Given the description of an element on the screen output the (x, y) to click on. 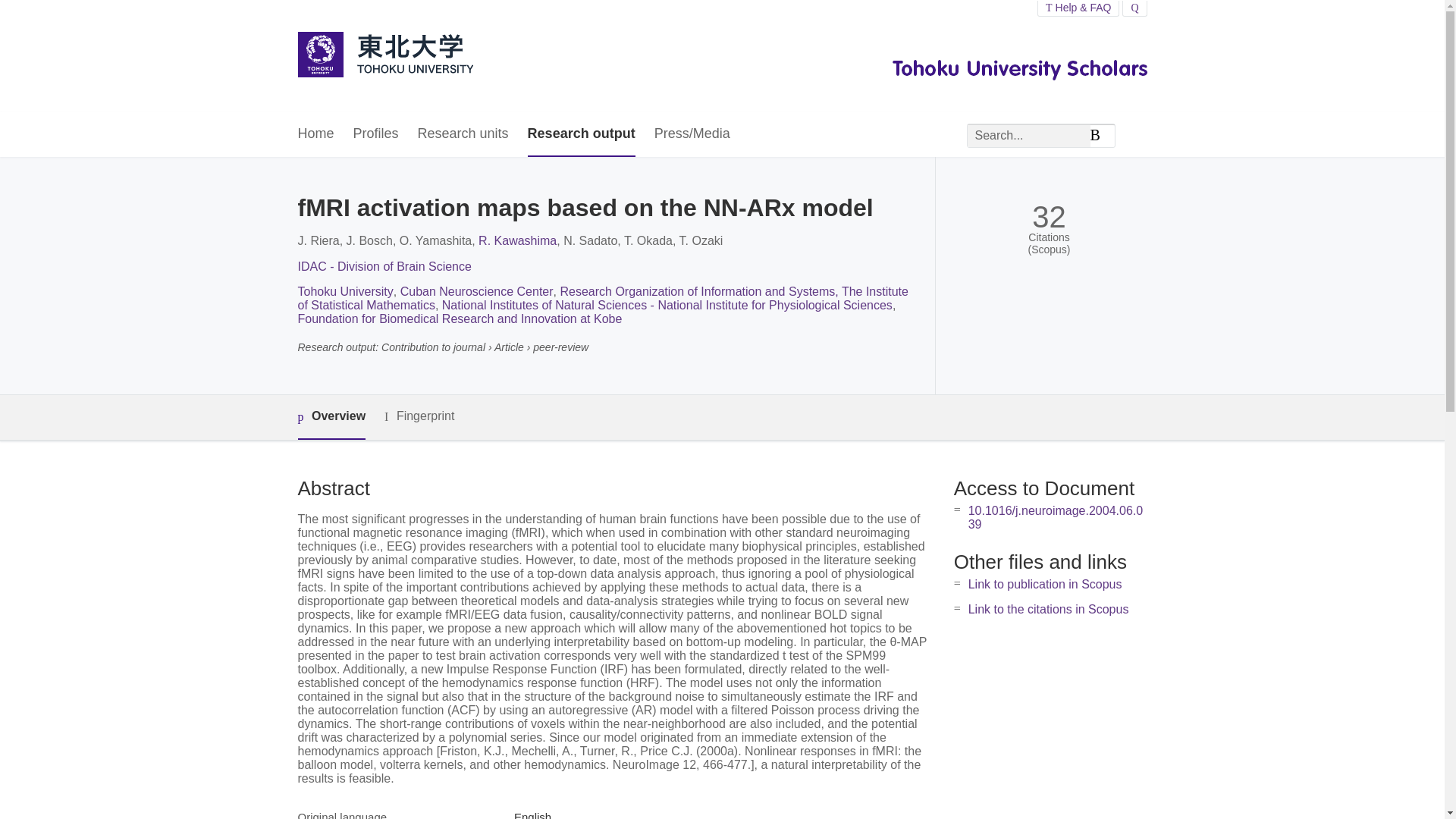
IDAC - Division of Brain Science (383, 266)
Research units (462, 134)
Tohoku University (345, 291)
Fingerprint (419, 416)
Tohoku University Home (384, 55)
Cuban Neuroscience Center (476, 291)
Overview (331, 416)
Link to the citations in Scopus (1048, 608)
R. Kawashima (517, 240)
Foundation for Biomedical Research and Innovation at Kobe (459, 318)
Research output (580, 134)
Profiles (375, 134)
